Given the description of an element on the screen output the (x, y) to click on. 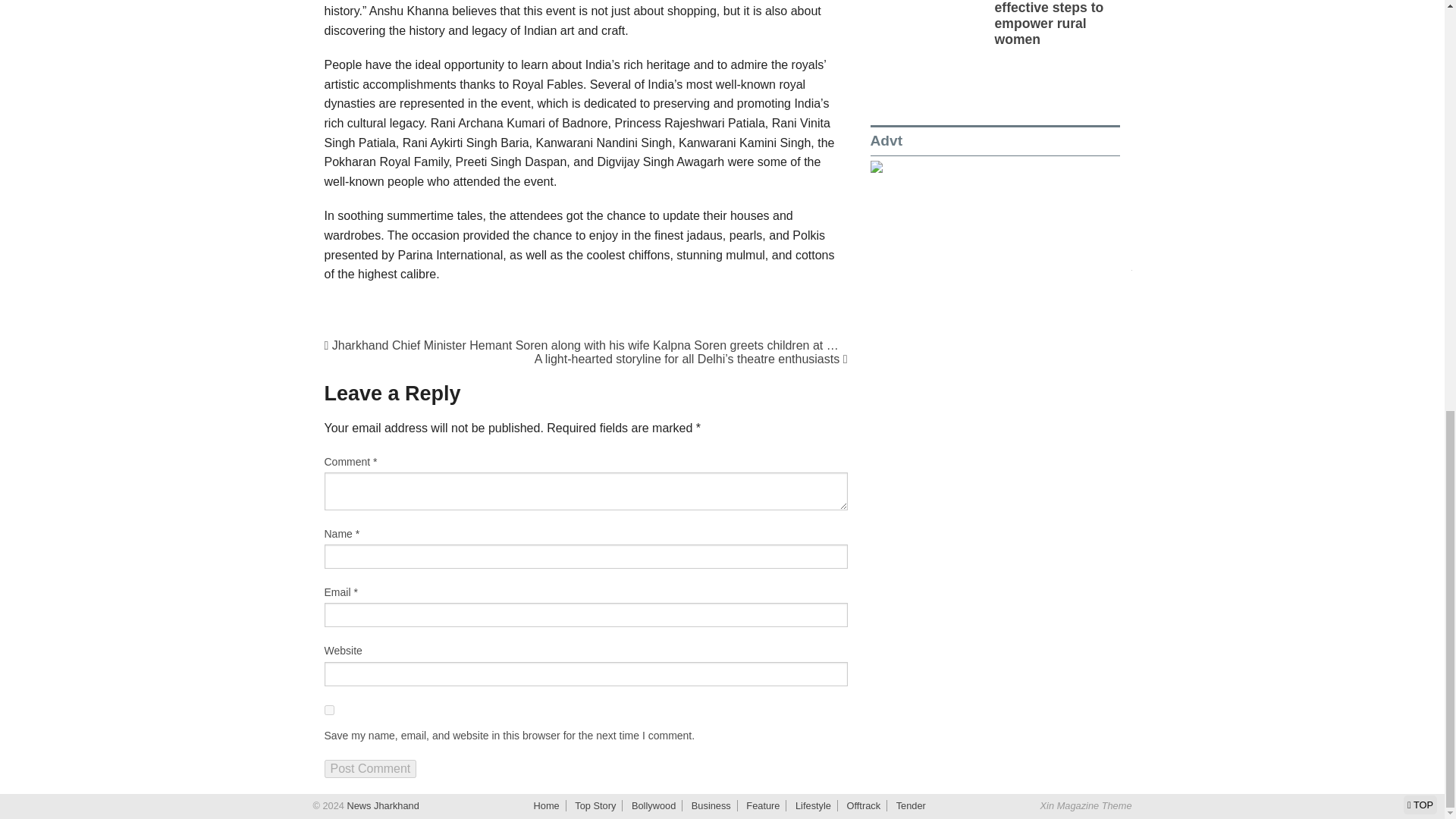
Post Comment (370, 769)
Business (710, 805)
yes (329, 709)
News Jharkhand (381, 805)
Xin Magazine Theme (1086, 805)
Bollywood (653, 805)
Govt taking effective steps to empower rural women (1048, 22)
Top Story (595, 805)
Home (546, 805)
Post Comment (370, 769)
